Given the description of an element on the screen output the (x, y) to click on. 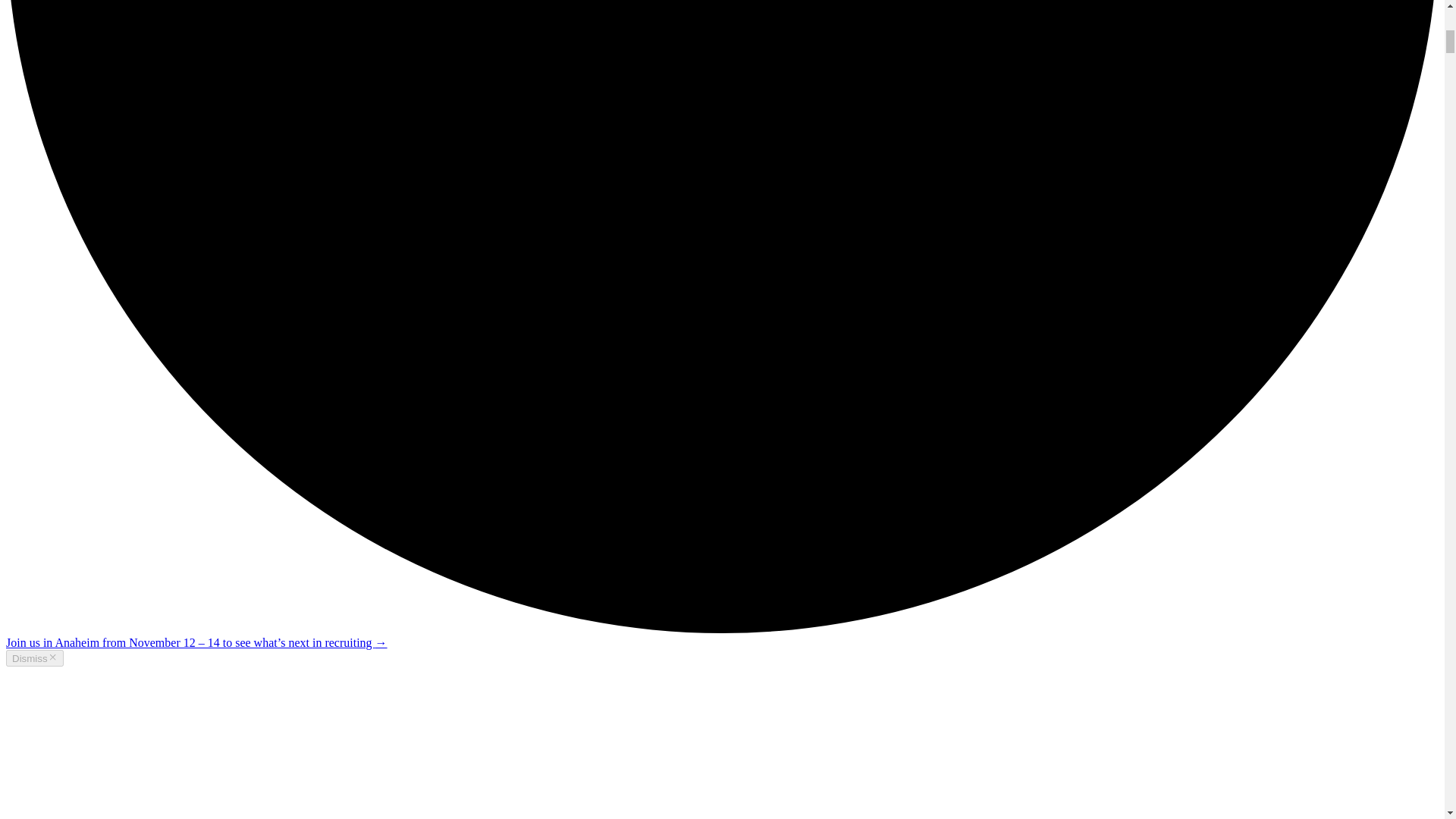
Dismiss (34, 658)
